Given the description of an element on the screen output the (x, y) to click on. 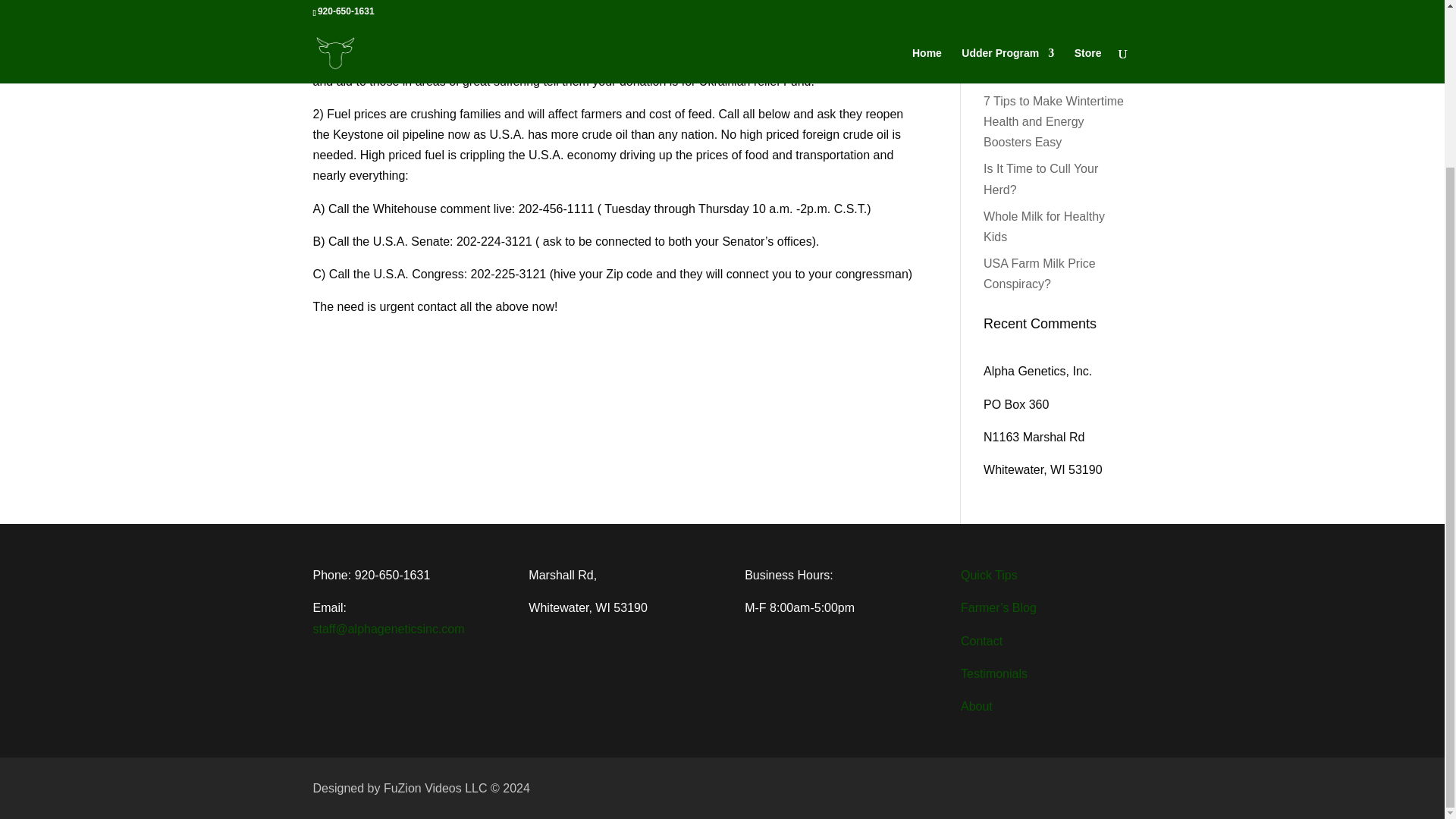
Whole Milk for Healthy Kids (1044, 226)
About (976, 706)
Testimonials (993, 673)
Quick Tips (988, 574)
FuZion Videos LLC (437, 788)
USA Farm Milk Price Conspiracy? (1040, 273)
Contact (981, 640)
7 Tips to Make Wintertime Health and Energy Boosters Easy (1054, 121)
Is It Time to Cull Your Herd? (1040, 178)
